Given the description of an element on the screen output the (x, y) to click on. 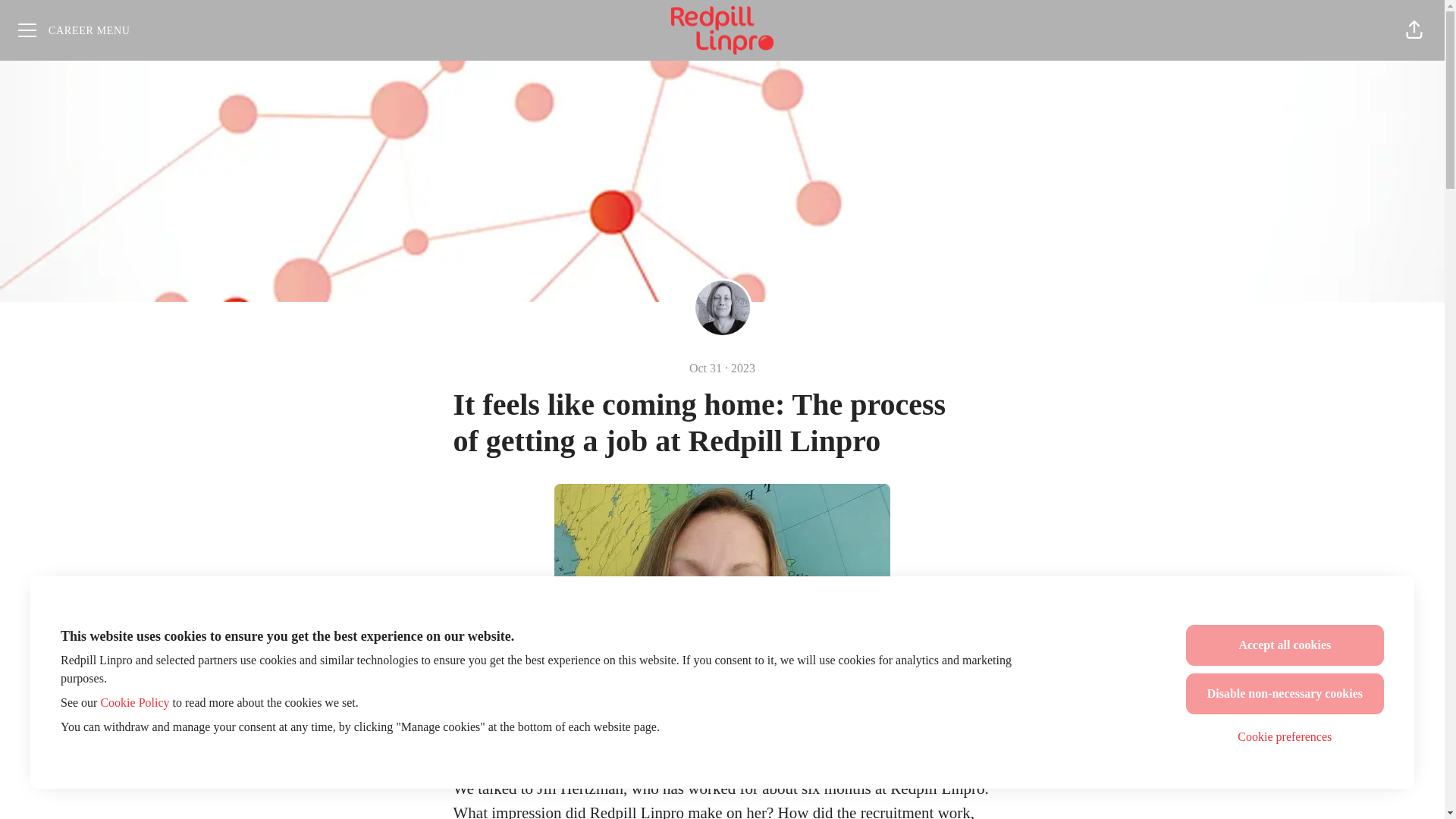
Cookie preferences (1284, 736)
Cookie Policy (134, 702)
Accept all cookies (1285, 644)
CAREER MENU (73, 30)
Share page (1414, 30)
Career menu (73, 30)
Disable non-necessary cookies (1285, 693)
